Given the description of an element on the screen output the (x, y) to click on. 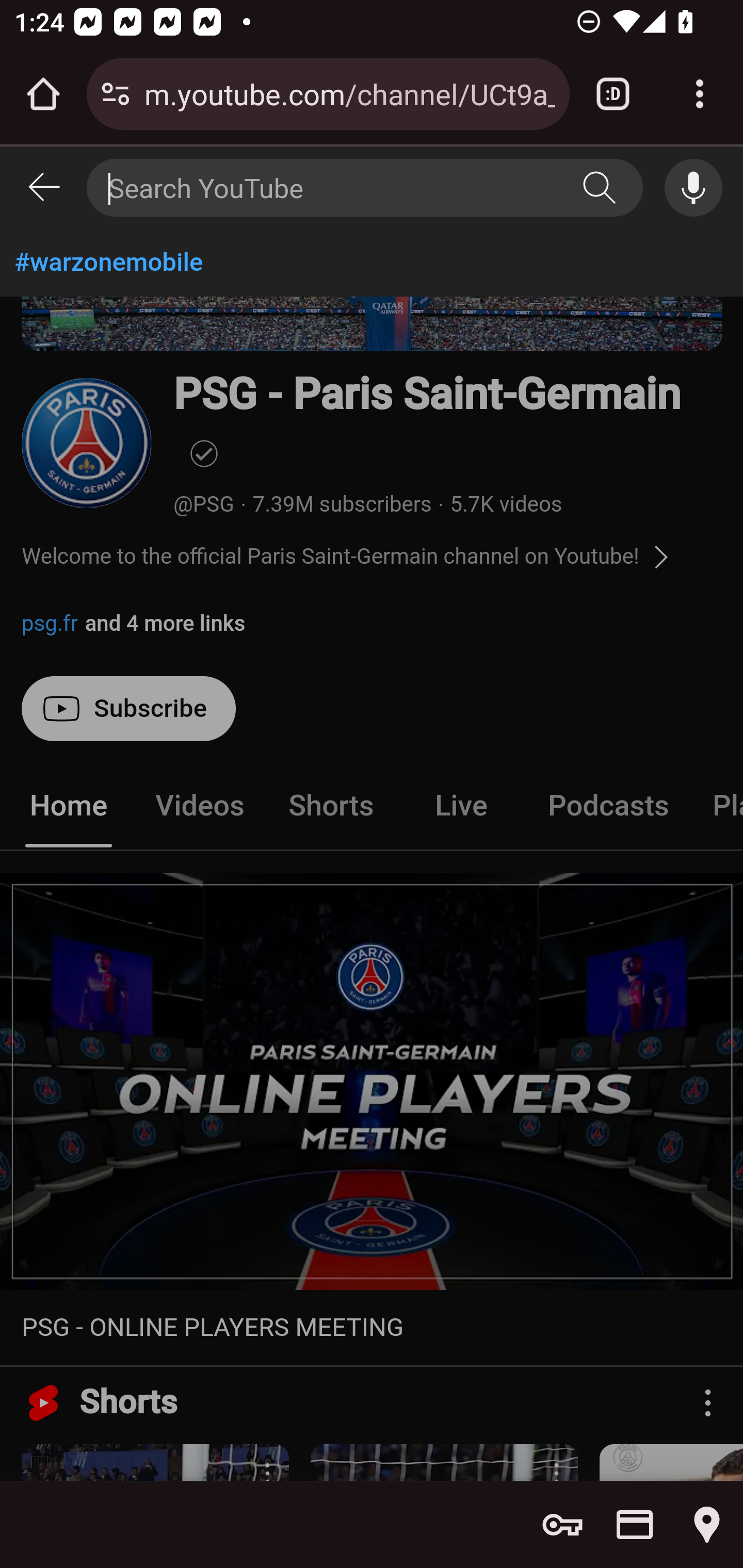
Open the home page (43, 93)
Connection is secure (115, 93)
Switch or close tabs (612, 93)
Customize and control Google Chrome (699, 93)
Close search (44, 188)
Search YouTube (600, 188)
Search with your voice (694, 188)
#warzonemobile (371, 262)
Show saved passwords and password options (562, 1524)
Show saved payment methods (634, 1524)
Show saved addresses (706, 1524)
